Given the description of an element on the screen output the (x, y) to click on. 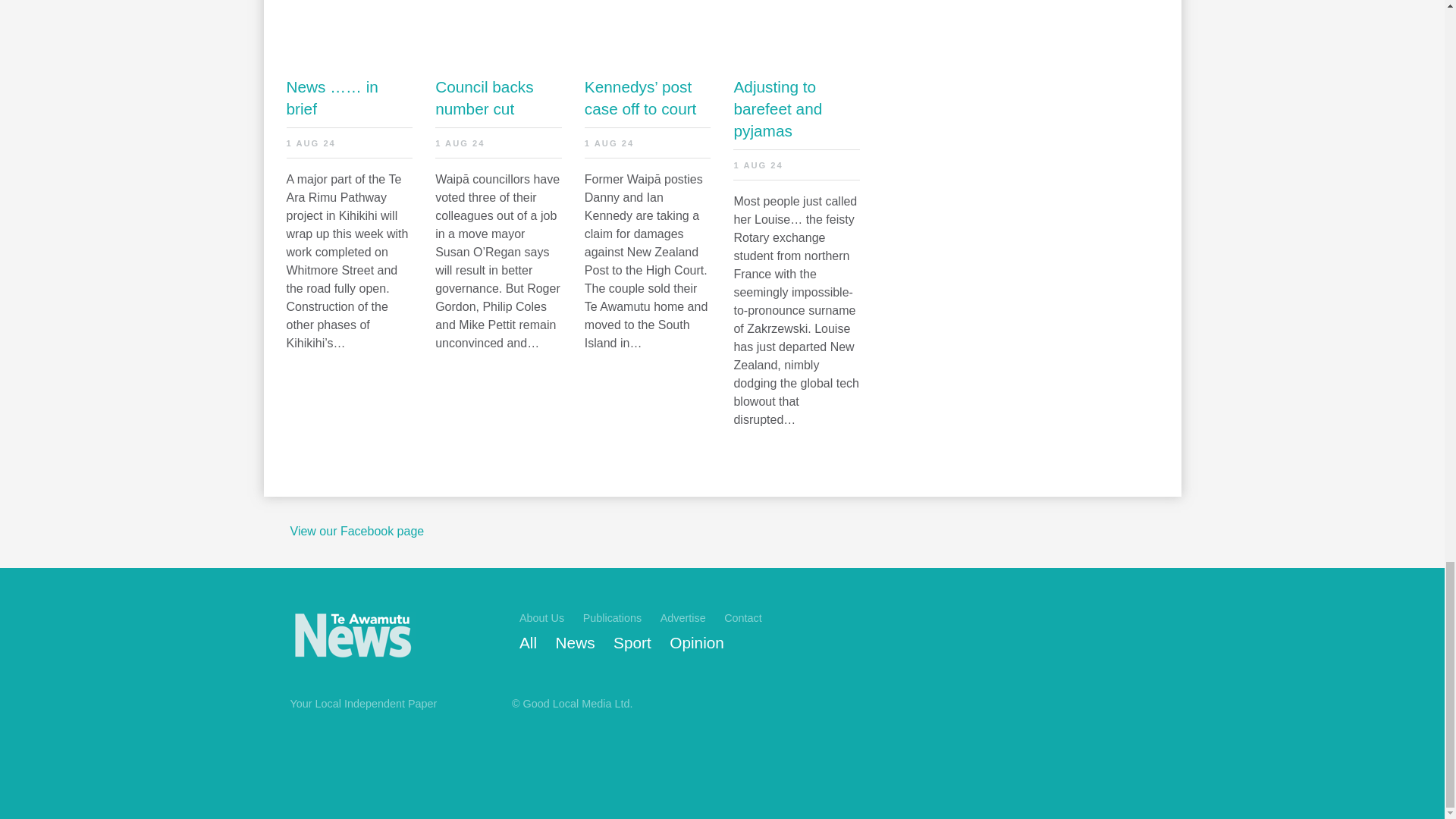
Sport (631, 642)
Opinion (696, 642)
Contact (742, 617)
Advertise (683, 617)
View our Facebook page (356, 530)
News (575, 642)
All (528, 642)
Publications (612, 617)
Adjusting to barefeet and pyjamas (796, 108)
Council backs number cut (498, 97)
